Given the description of an element on the screen output the (x, y) to click on. 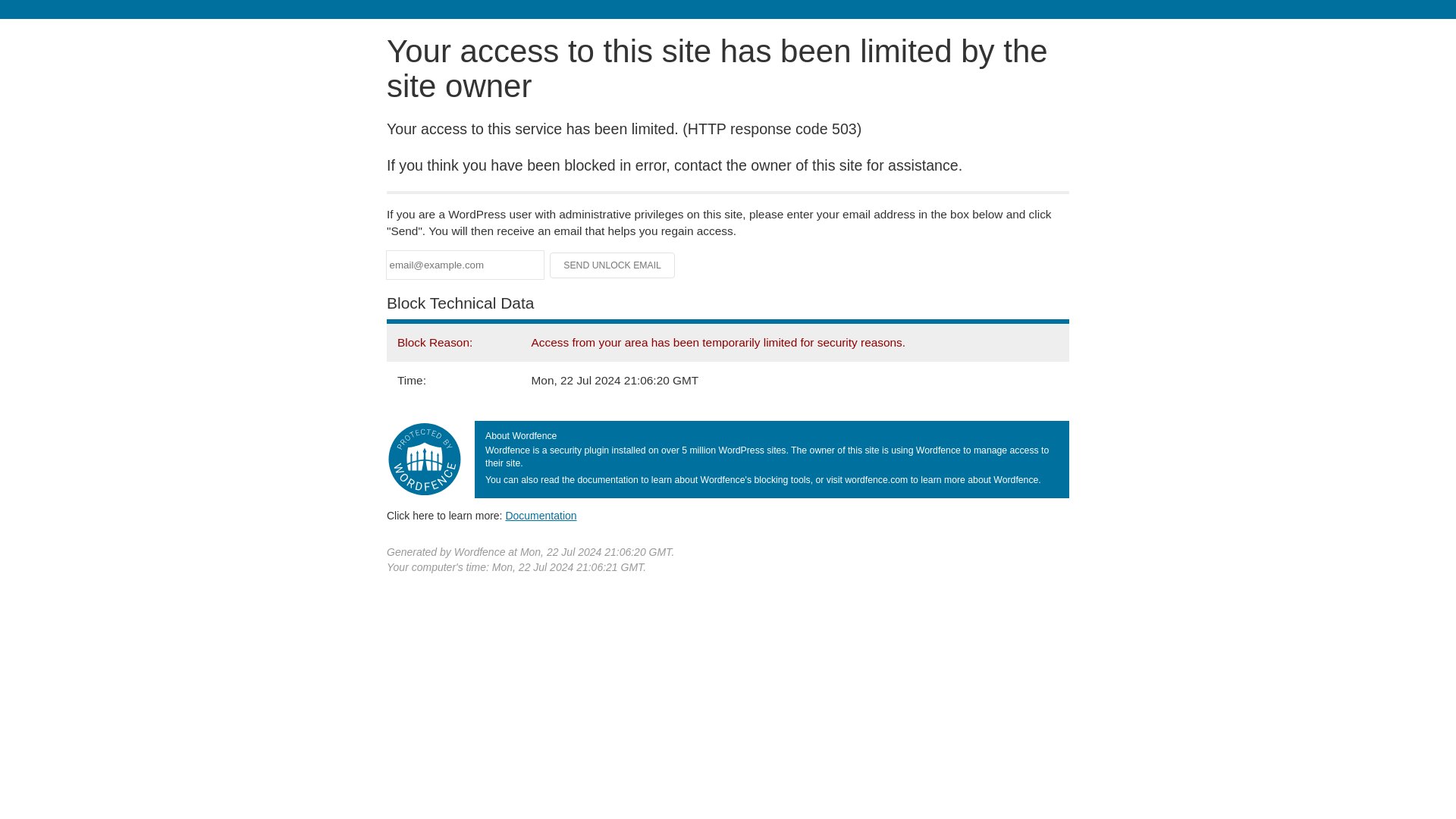
Documentation (540, 515)
Send Unlock Email (612, 265)
Send Unlock Email (612, 265)
